Given the description of an element on the screen output the (x, y) to click on. 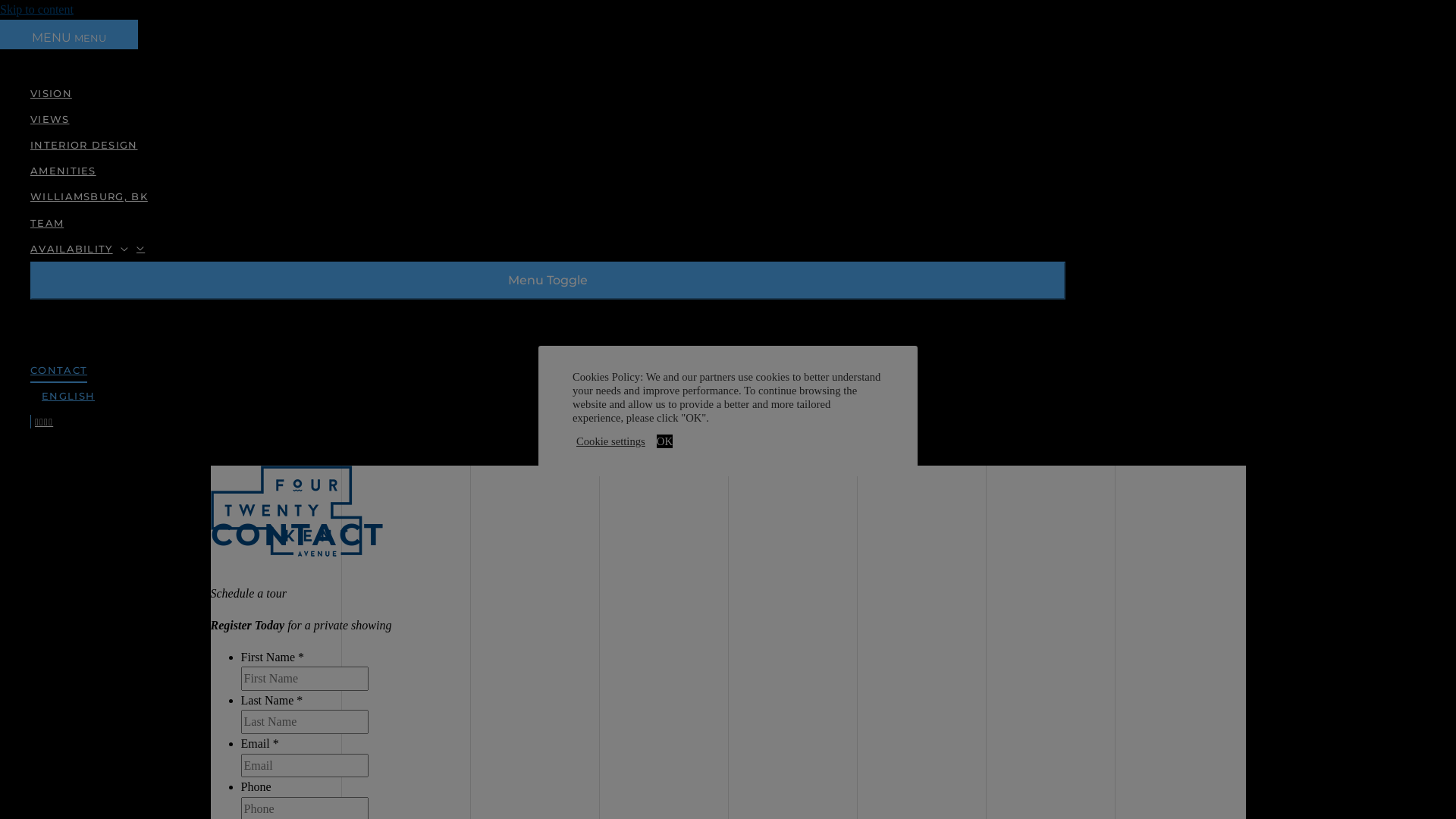
Skip to content Element type: text (36, 9)
VIEWS Element type: text (547, 118)
TEAM Element type: text (547, 222)
OK Element type: text (664, 441)
ENGLISH Element type: text (551, 395)
Cookie settings Element type: text (610, 441)
VISION Element type: text (547, 93)
AVAILABILITY Element type: text (547, 248)
AMENITIES Element type: text (547, 170)
CONTACT Element type: text (547, 369)
INTERIOR DESIGN Element type: text (547, 144)
Menu Toggle Element type: text (547, 280)
MENU MENU Element type: text (69, 34)
WILLIAMSBURG, BK Element type: text (547, 196)
420kent-logo-final Element type: hover (286, 510)
